Given the description of an element on the screen output the (x, y) to click on. 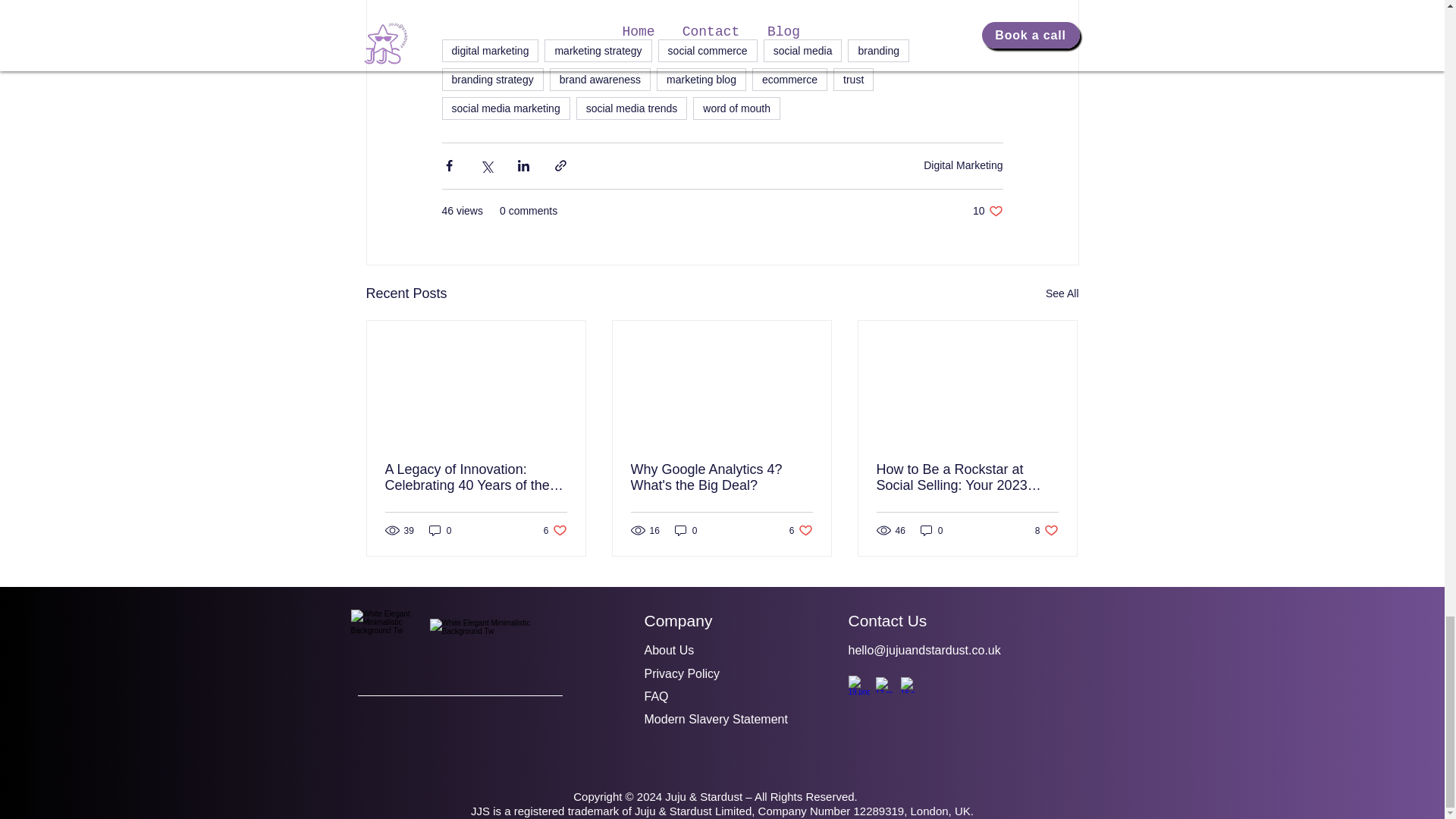
marketing strategy (597, 50)
social media trends (631, 108)
social media (802, 50)
ecommerce (789, 78)
social media marketing (505, 108)
Why Google Analytics 4? What's the Big Deal? (721, 477)
brand awareness (600, 78)
social commerce (707, 50)
